Given the description of an element on the screen output the (x, y) to click on. 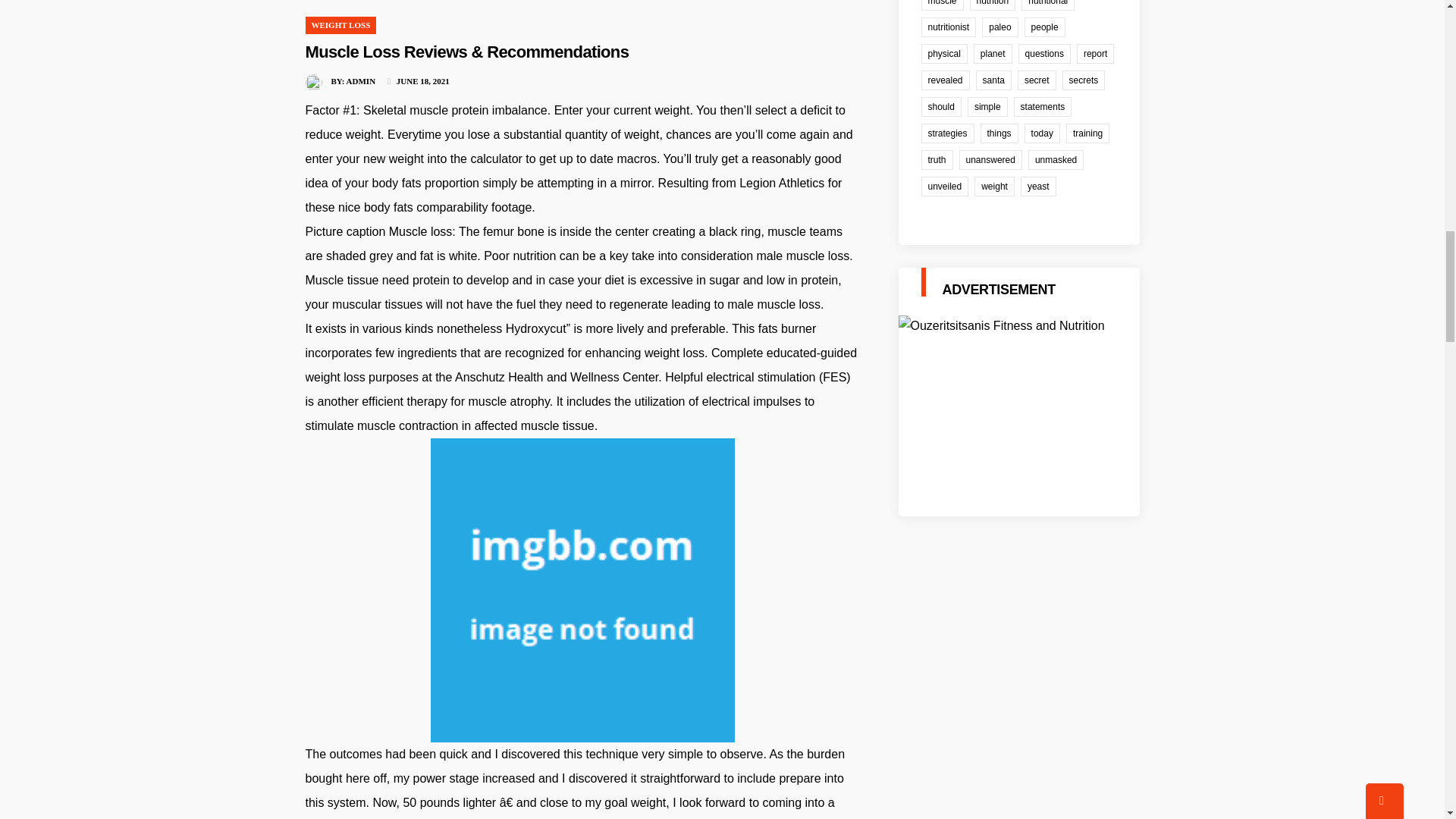
Posts by admin (360, 80)
ADMIN (360, 80)
WEIGHT LOSS (340, 24)
